Given the description of an element on the screen output the (x, y) to click on. 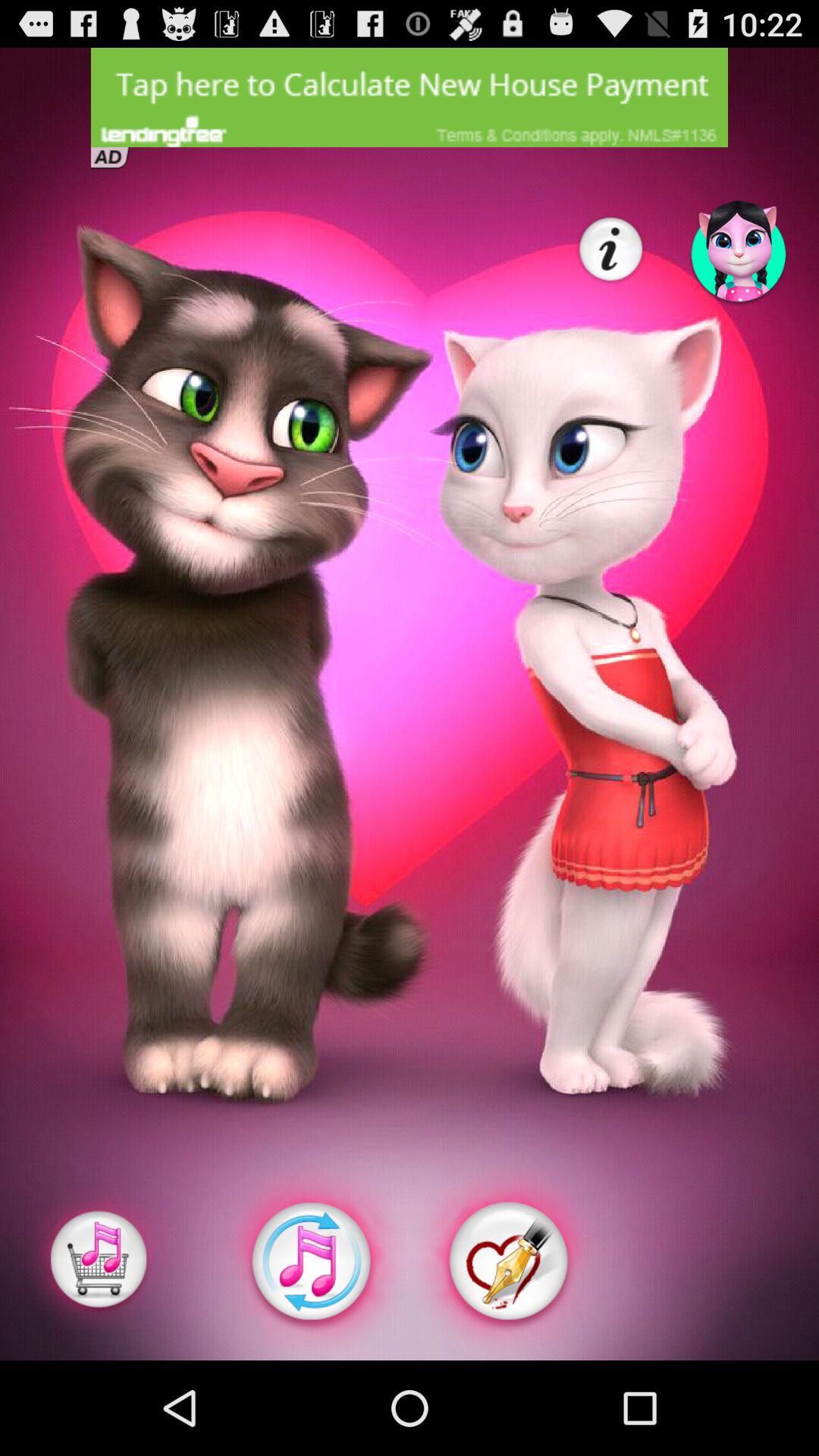
click discriiption (409, 97)
